Given the description of an element on the screen output the (x, y) to click on. 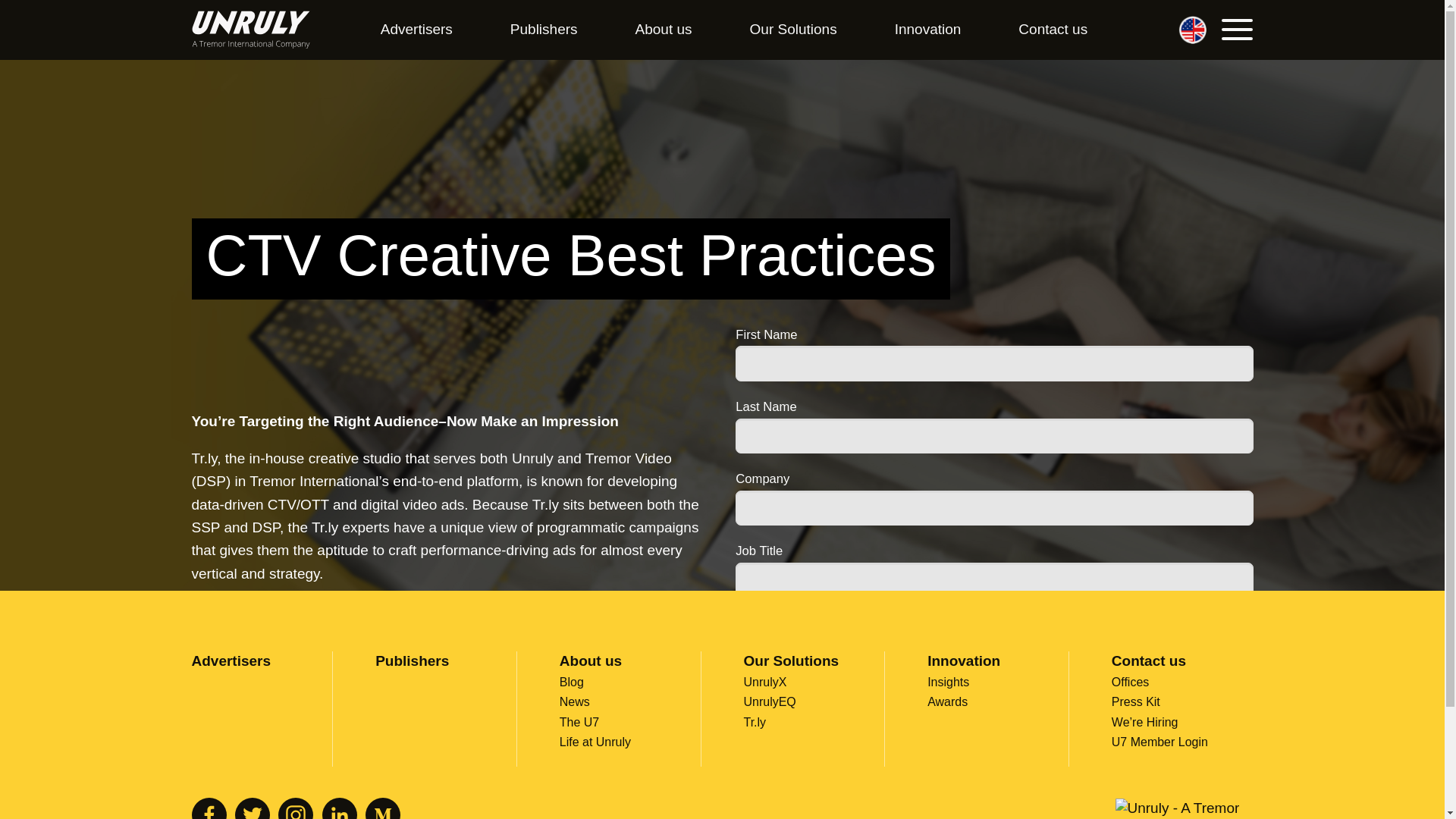
Locations (1179, 29)
Innovation (928, 29)
About us (663, 29)
Life at Unruly (594, 741)
Open Positions (1144, 721)
Twitter (251, 808)
Blog (571, 681)
LinkedIn Company (338, 808)
Advertisers (416, 29)
The U7 (578, 721)
